Given the description of an element on the screen output the (x, y) to click on. 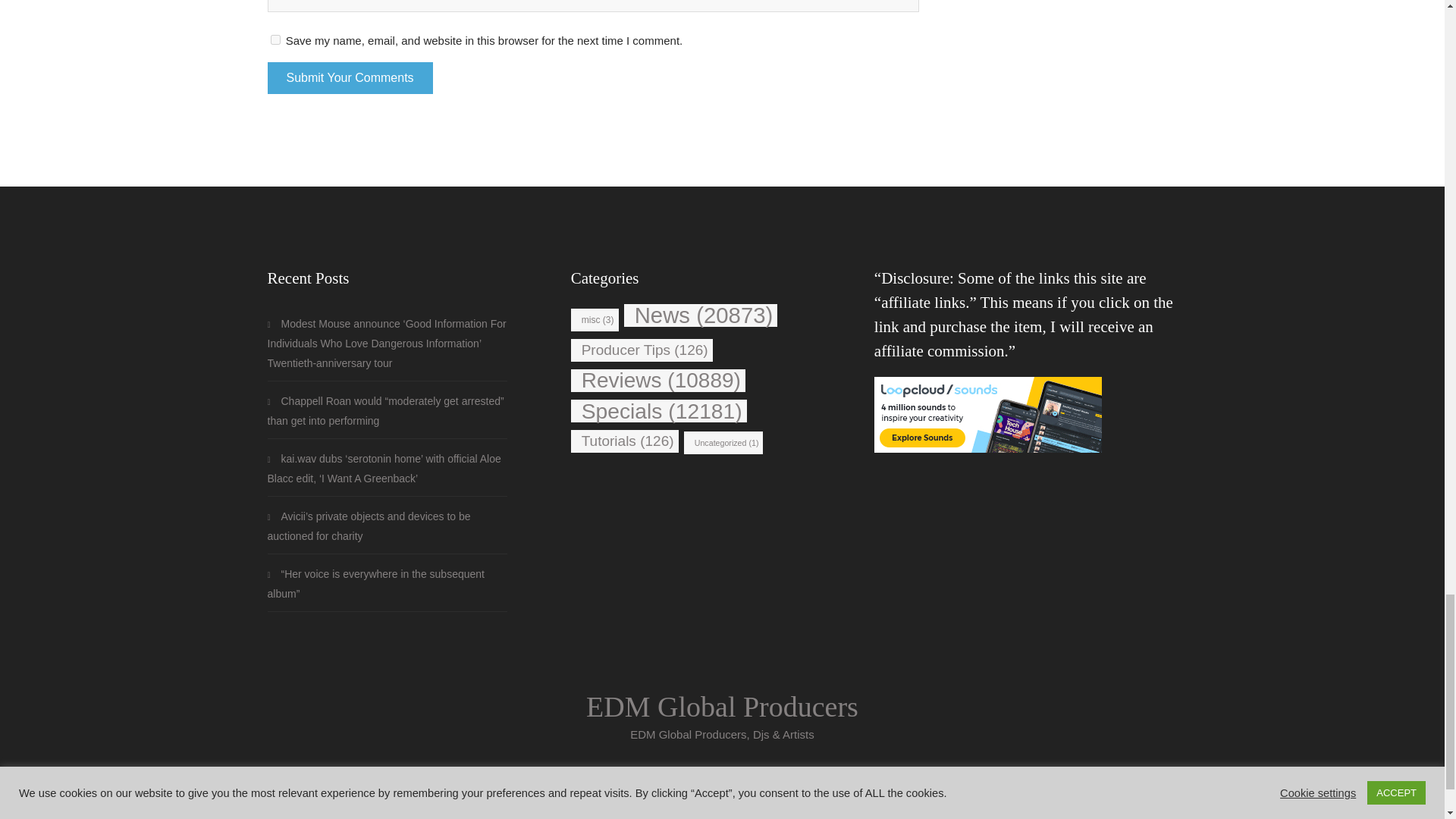
Loopcloud Sounds (988, 414)
EDM Global Producers (722, 706)
Submit Your Comments (349, 78)
Submit Your Comments (349, 78)
yes (274, 40)
